Given the description of an element on the screen output the (x, y) to click on. 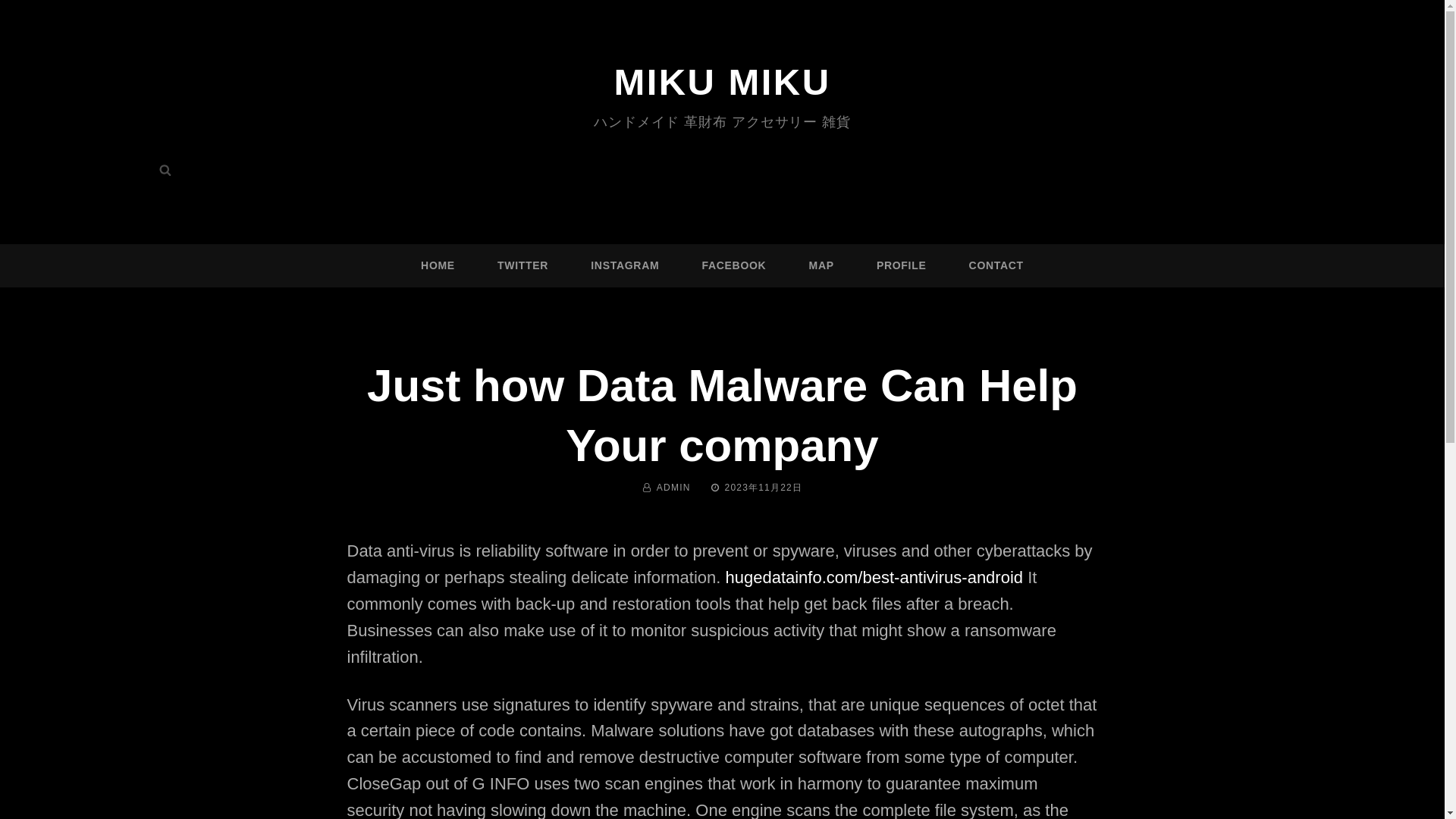
TWITTER (523, 265)
ADMIN (673, 487)
FACEBOOK (733, 265)
INSTAGRAM (625, 265)
MAP (821, 265)
MIKU MIKU (720, 81)
CONTACT (996, 265)
PROFILE (900, 265)
HOME (437, 265)
